Given the description of an element on the screen output the (x, y) to click on. 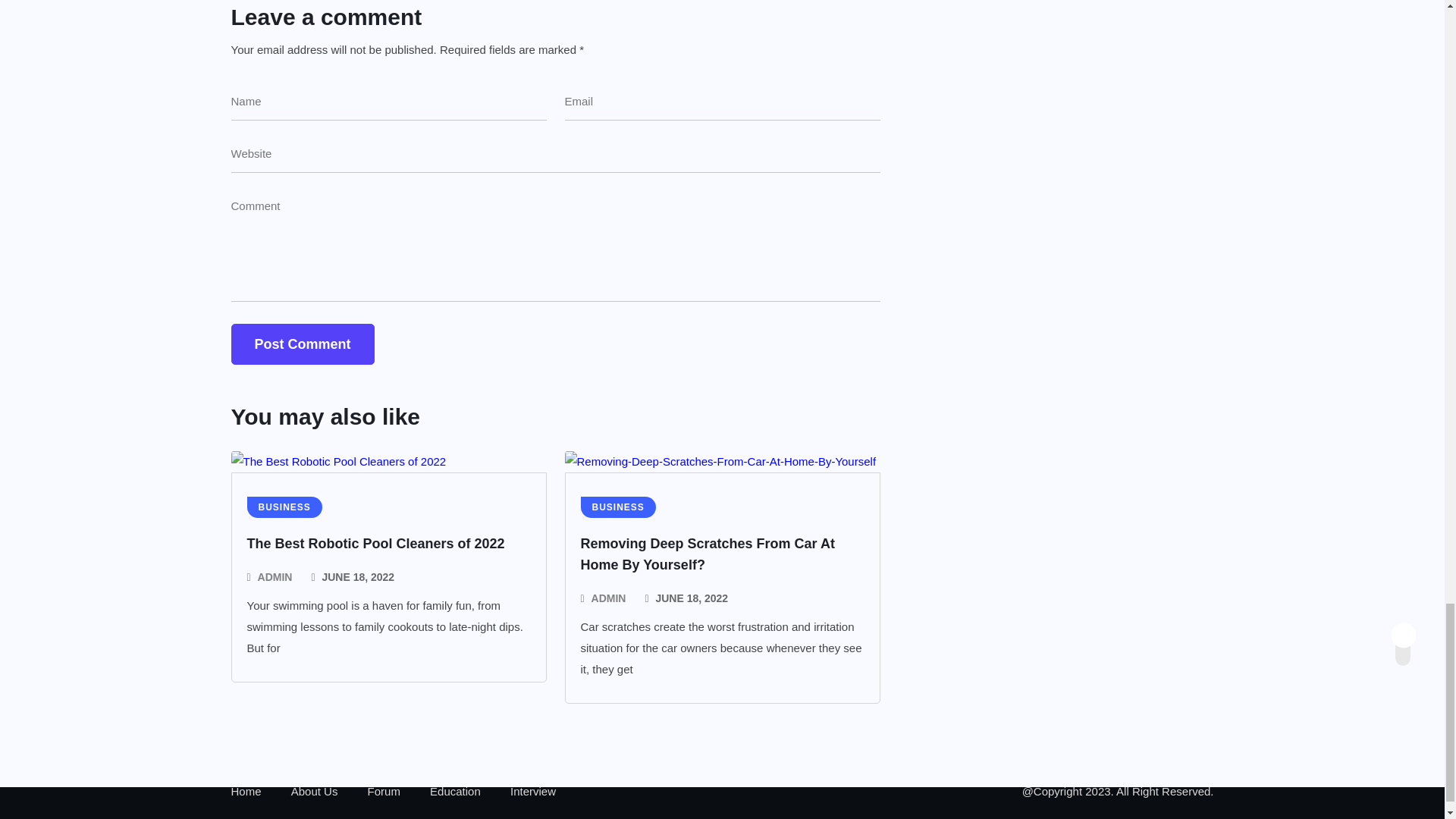
Removing Deep Scratches From Car At Home By Yourself? 7 (720, 461)
Post Comment (302, 343)
Posts by admin (608, 598)
The Best Robotic Pool Cleaners of 2022 6 (337, 461)
Posts by admin (274, 577)
